Given the description of an element on the screen output the (x, y) to click on. 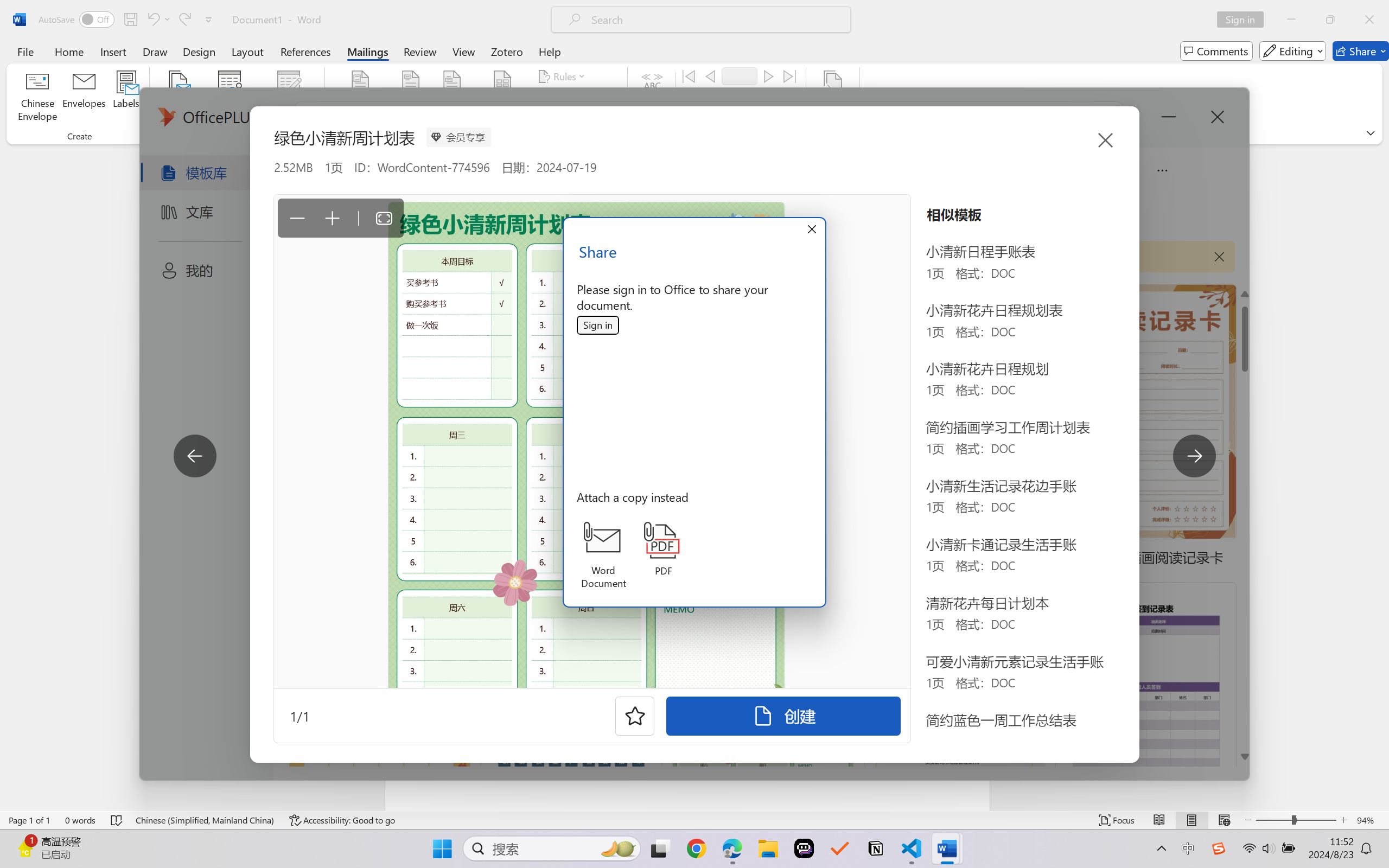
Check for Errors... (728, 118)
Match Fields... (573, 97)
Undo Apply Quick Style Set (158, 19)
